Given the description of an element on the screen output the (x, y) to click on. 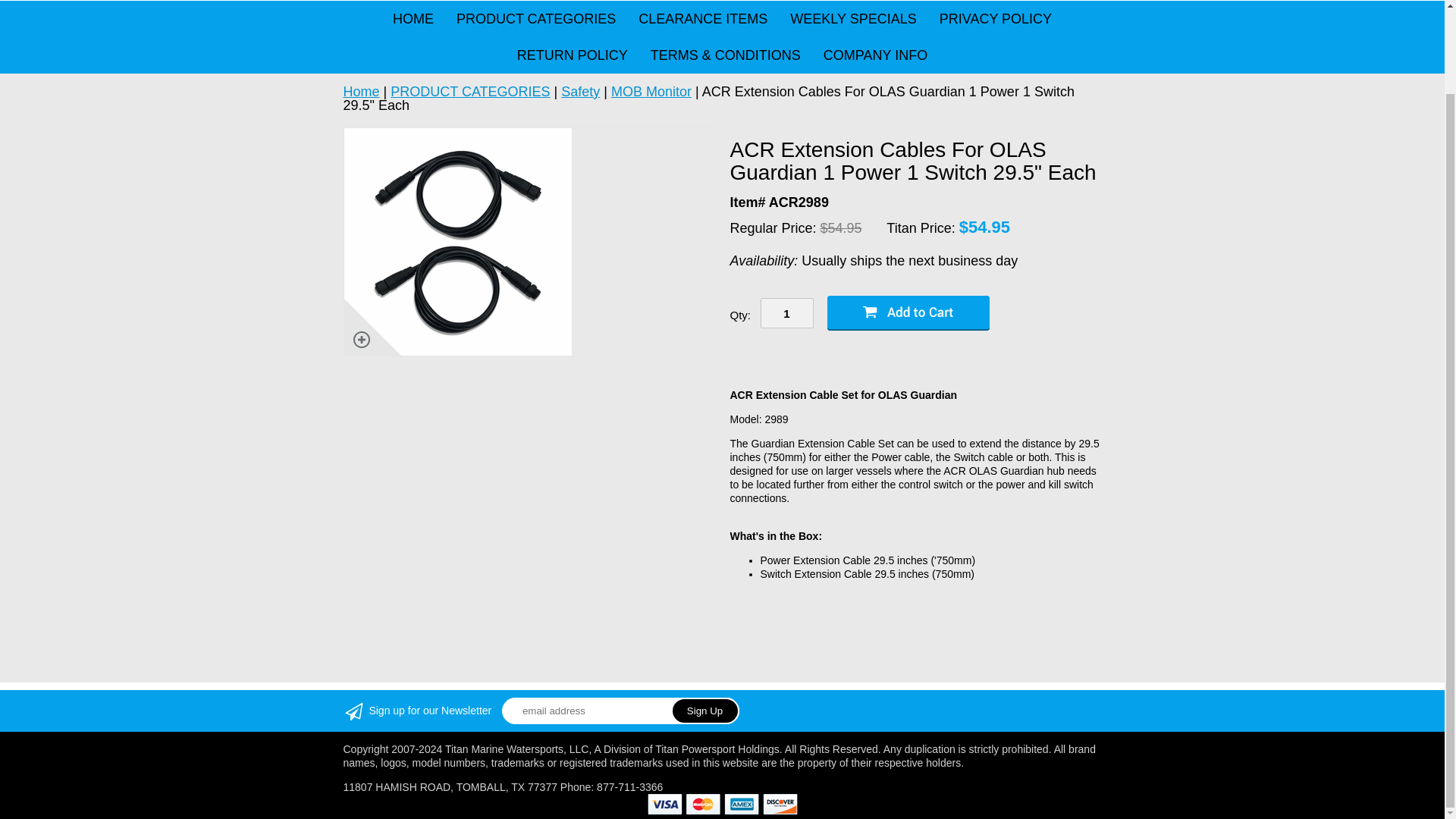
CLEARANCE ITEMS (702, 18)
Credit Card Logos (722, 803)
PRODUCT CATEGORIES (536, 18)
1 (786, 313)
WEEKLY SPECIALS (852, 18)
HOME (413, 18)
Add To Cart (907, 312)
Sign Up (705, 710)
